Given the description of an element on the screen output the (x, y) to click on. 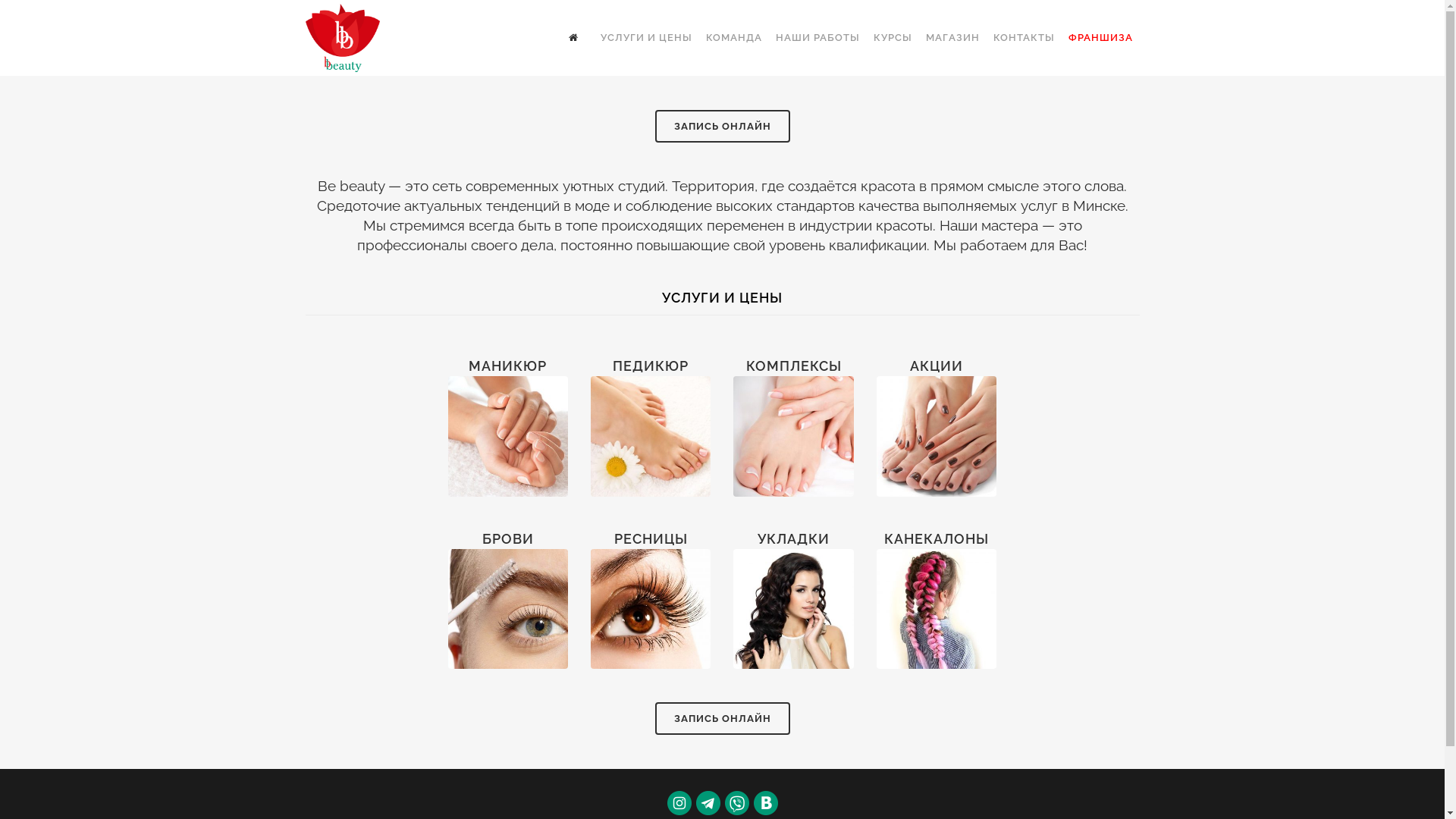
  Element type: text (577, 37)
